Given the description of an element on the screen output the (x, y) to click on. 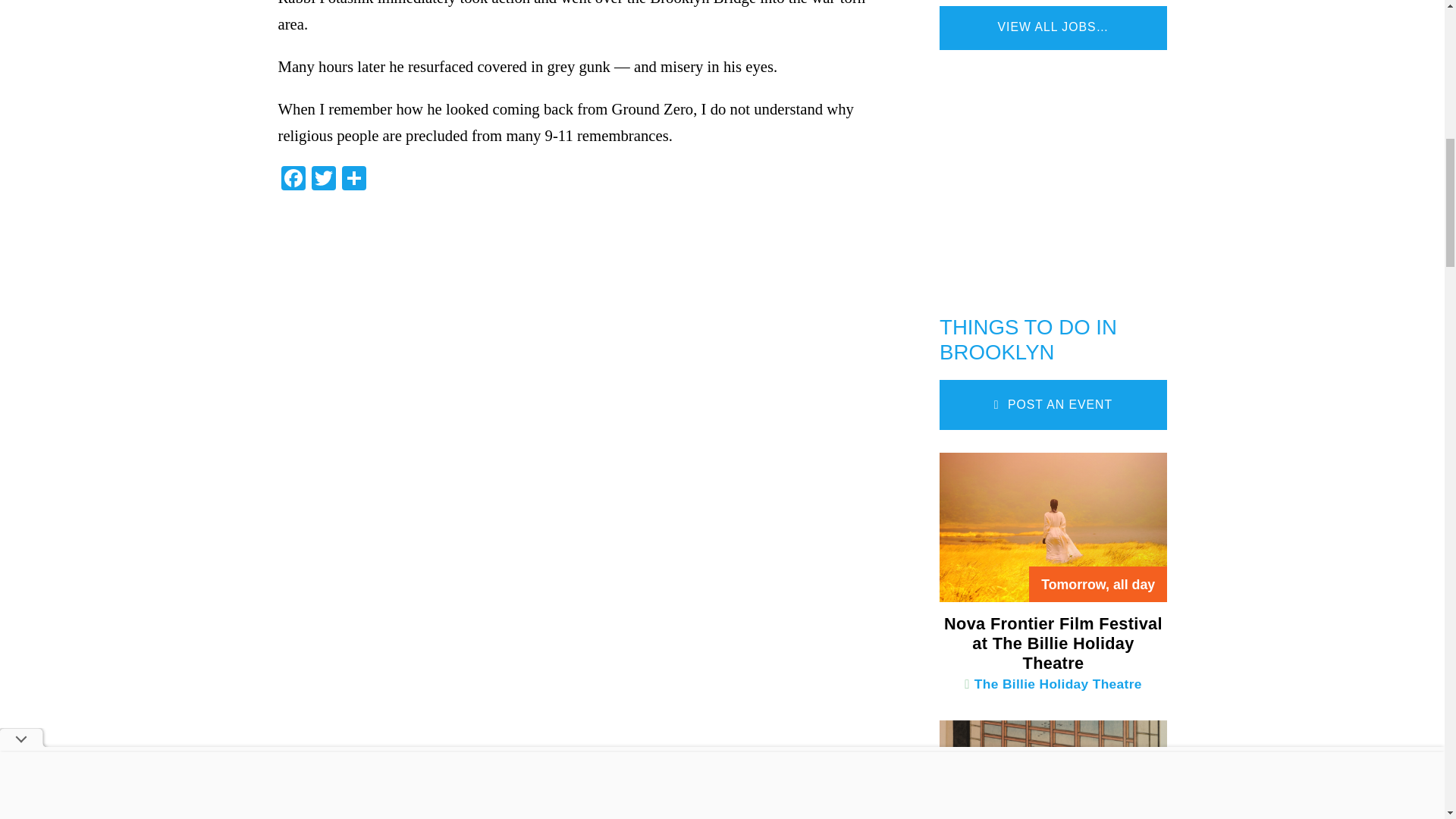
Twitter (322, 180)
Facebook (292, 180)
3rd party ad content (1052, 177)
